Given the description of an element on the screen output the (x, y) to click on. 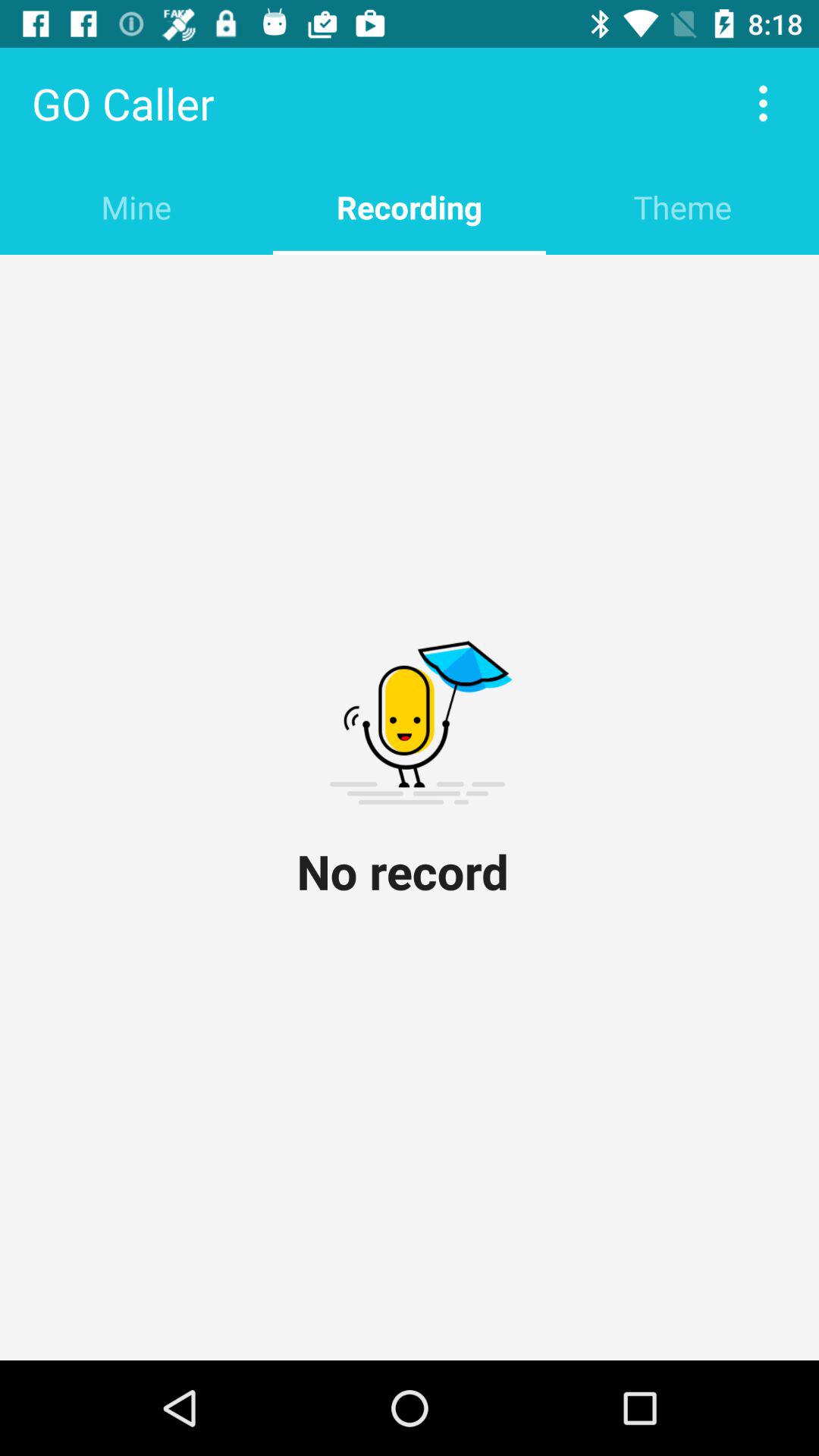
press the icon above theme icon (763, 103)
